Given the description of an element on the screen output the (x, y) to click on. 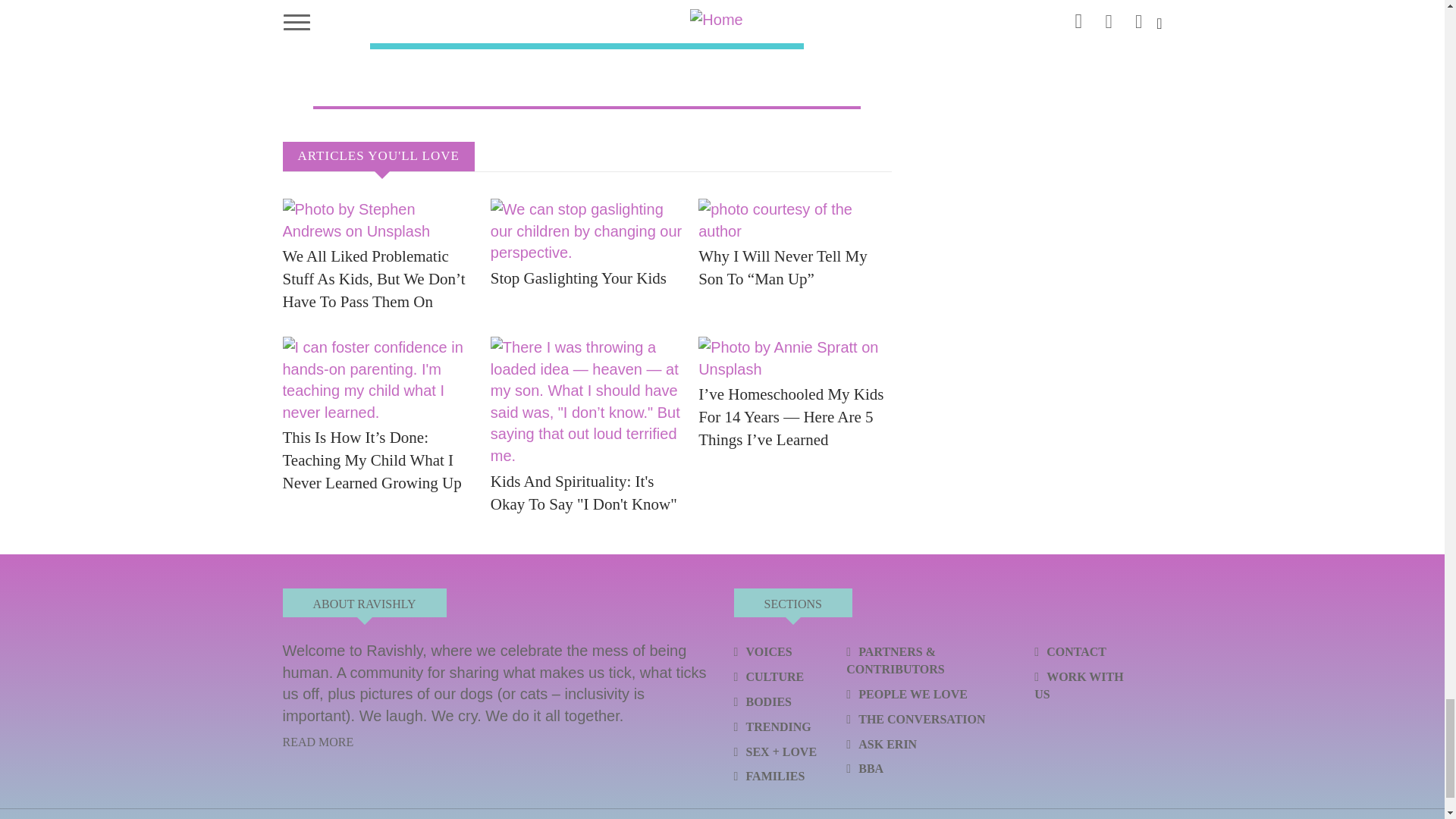
SUBSCRIBE (671, 6)
